Given the description of an element on the screen output the (x, y) to click on. 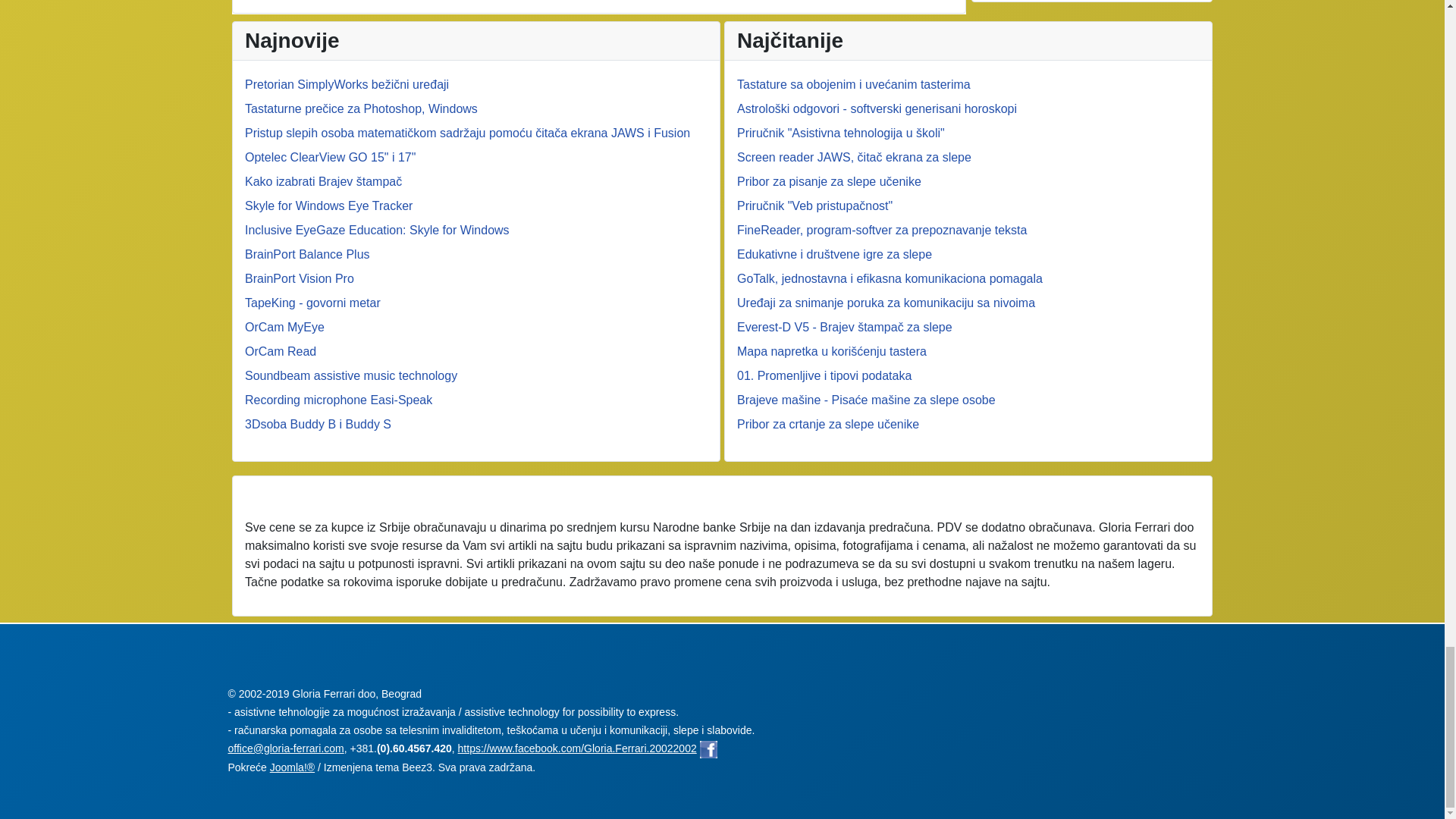
Facebook stranica Gloria Ferrari doo (708, 748)
